Given the description of an element on the screen output the (x, y) to click on. 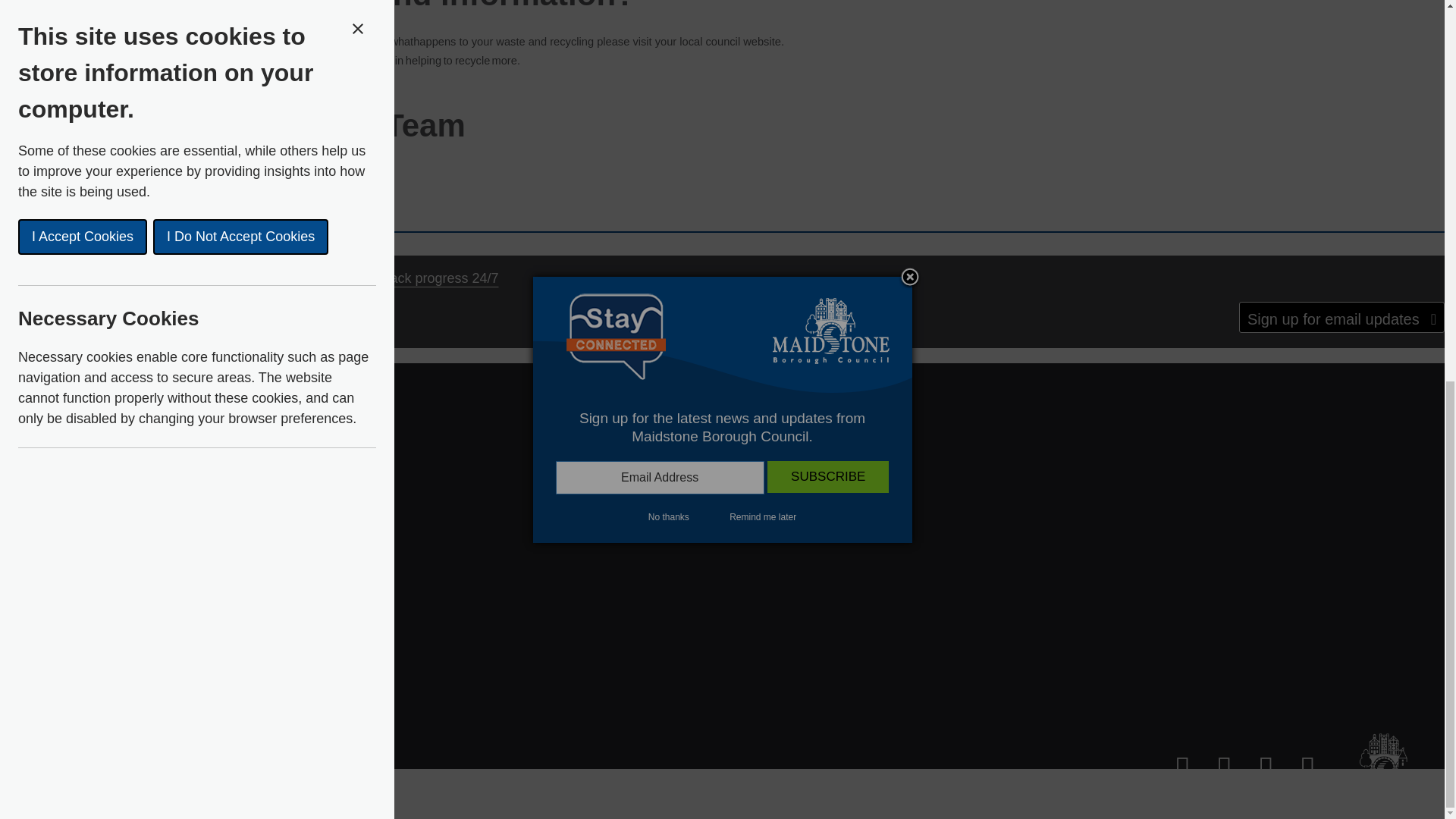
Follow us on Facebook (1214, 767)
Follow us on Youtube (1298, 767)
Follow us on Instagram (1257, 767)
Follow us on Twitter (1173, 767)
